Given the description of an element on the screen output the (x, y) to click on. 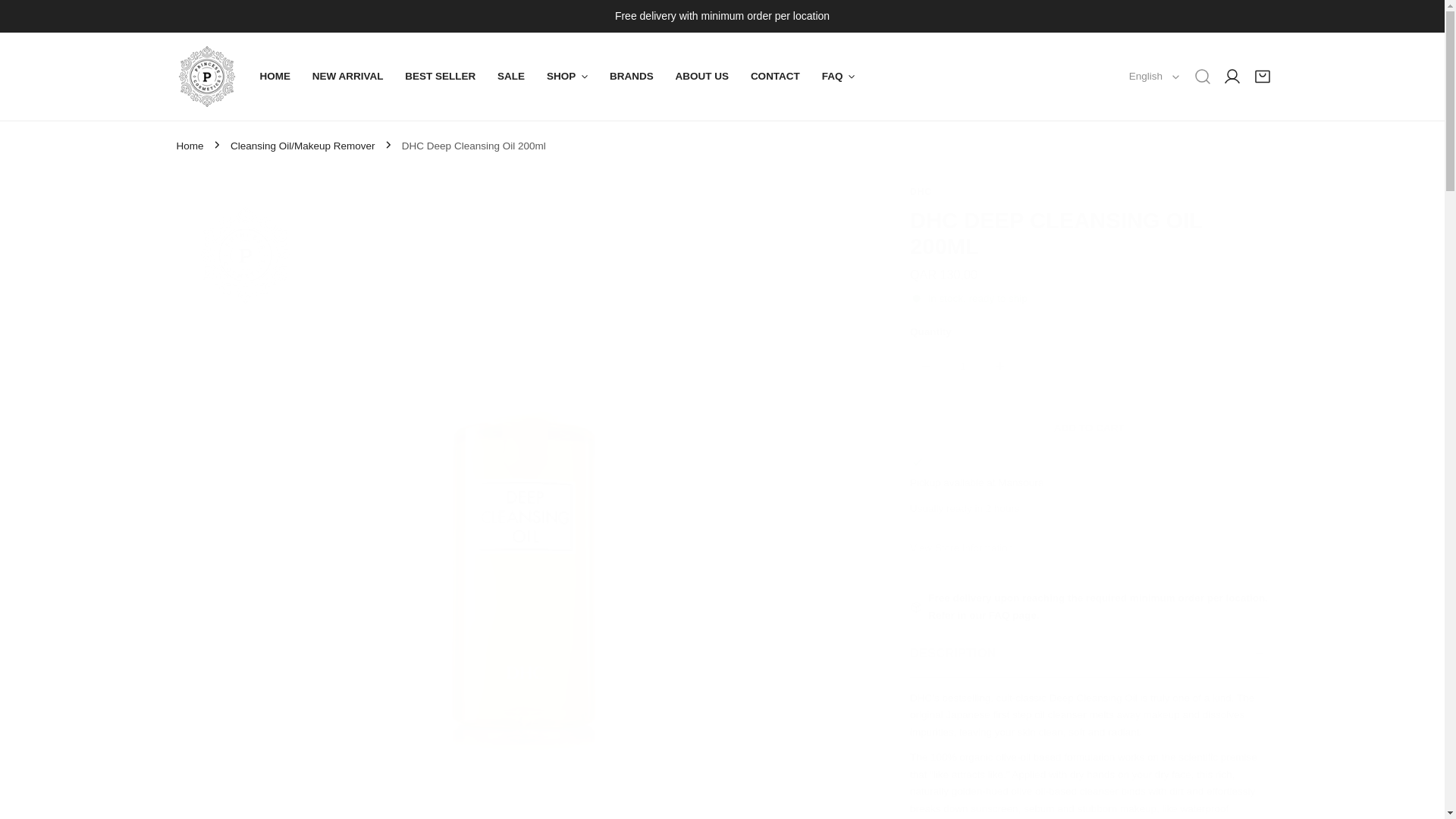
ABOUT US (701, 76)
Frequently Asked Questions (1013, 614)
Home (189, 146)
1 (962, 366)
NEW ARRIVAL (347, 76)
Princess Cosmetics Qatar (205, 76)
SKIP TO CONTENT (27, 17)
DHC (920, 191)
